Given the description of an element on the screen output the (x, y) to click on. 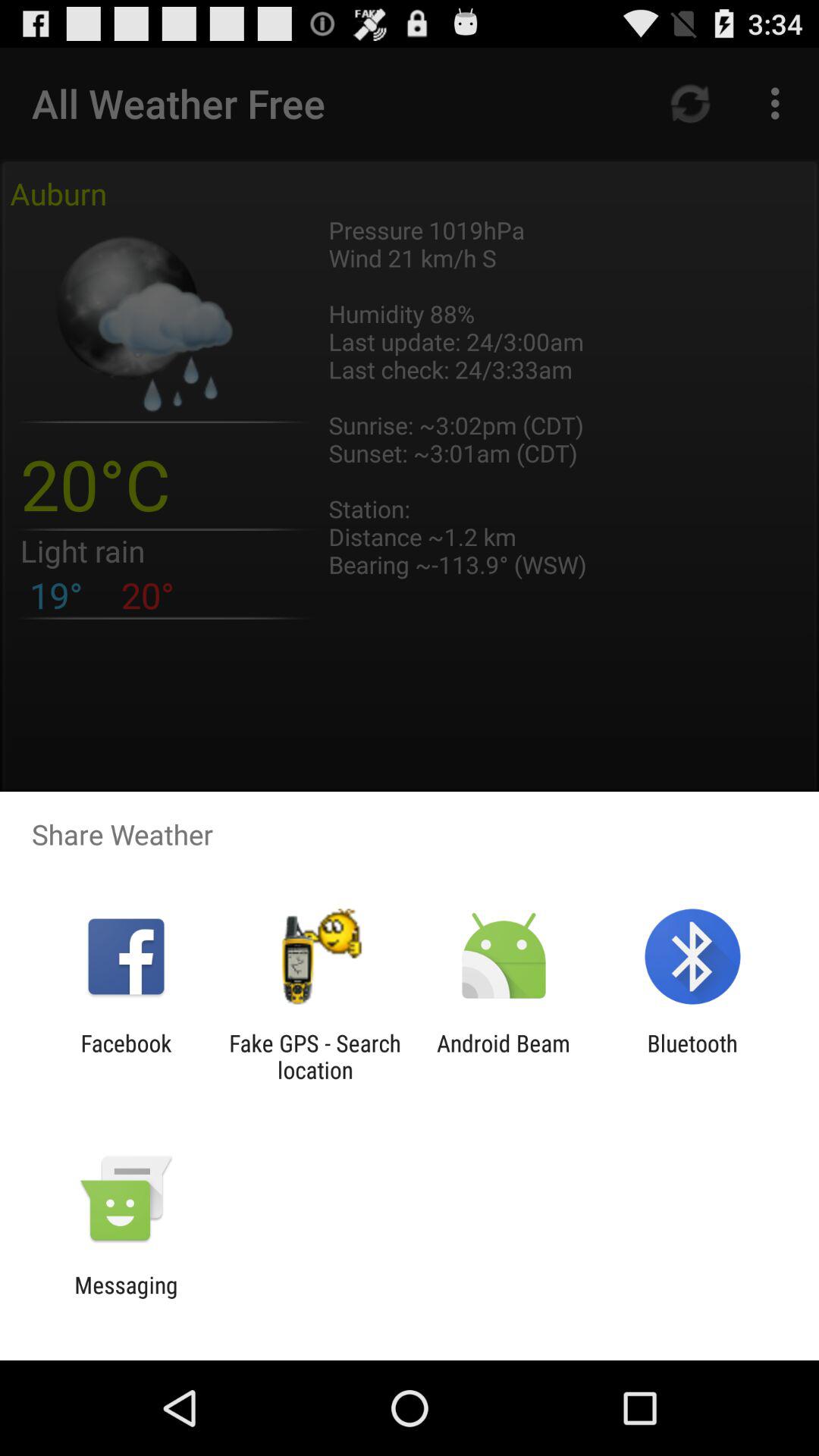
click the fake gps search (314, 1056)
